Given the description of an element on the screen output the (x, y) to click on. 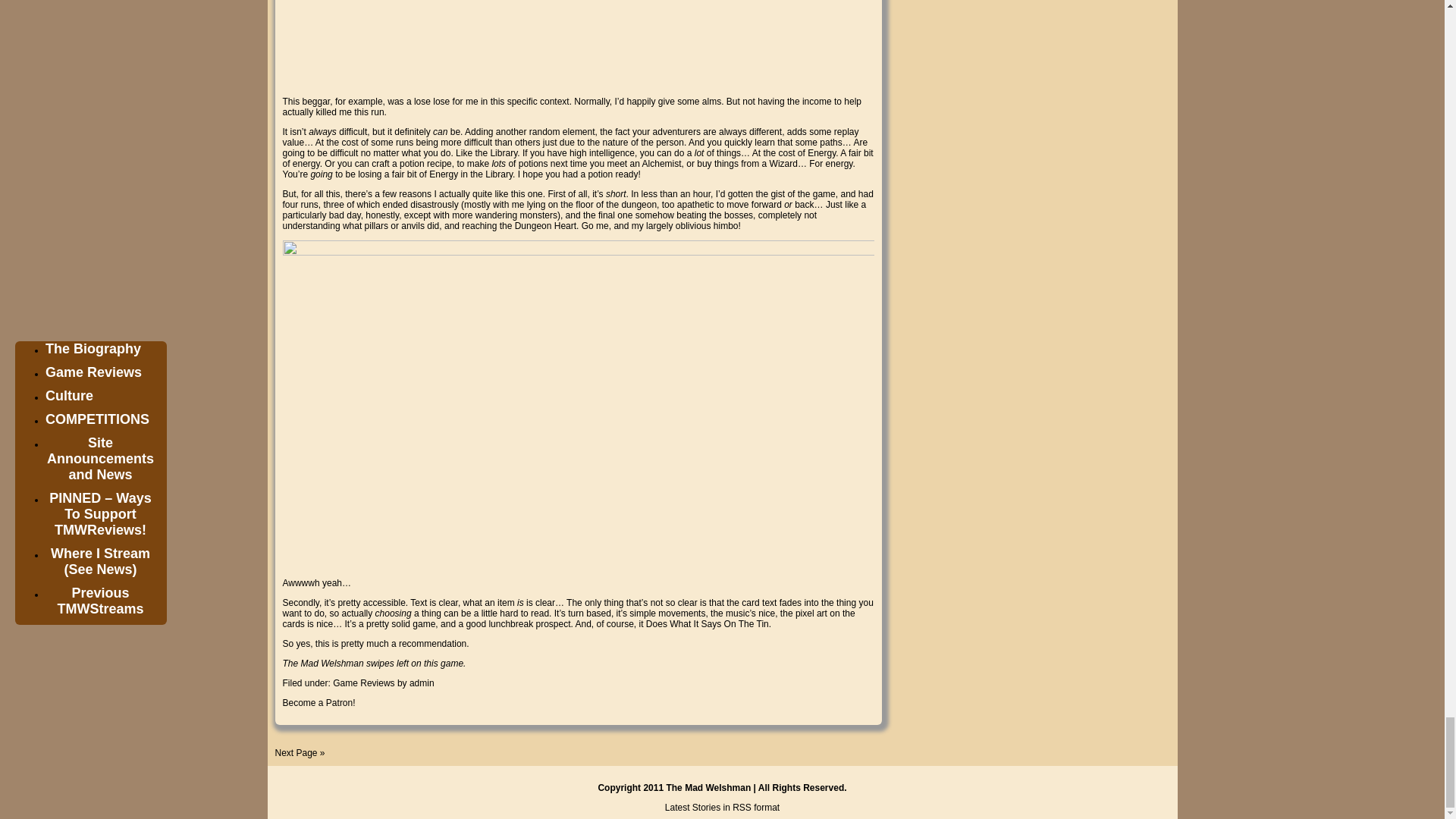
Game Reviews (363, 683)
Become a Patron! (318, 702)
